Given the description of an element on the screen output the (x, y) to click on. 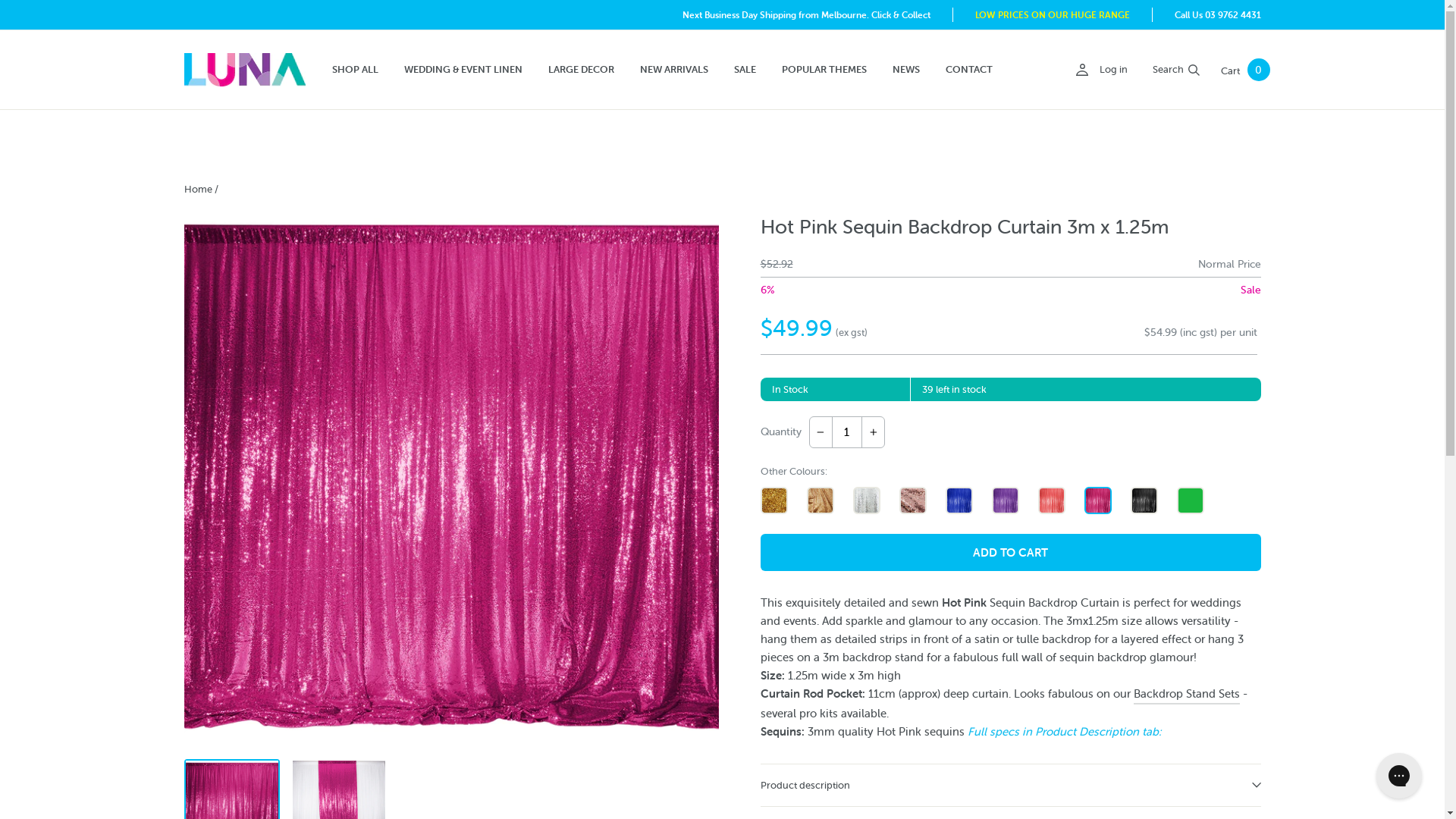
Product description Element type: text (1009, 784)
LOW PRICES ON OUR HUGE RANGE Element type: text (1052, 14)
Sequin Hot Pink Element type: text (1097, 500)
Gorgias live chat messenger Element type: hover (1398, 775)
LARGE DECOR Element type: text (580, 69)
Green Element type: text (1190, 500)
Sequin Royal Blue Element type: text (958, 500)
POPULAR THEMES Element type: text (824, 69)
Cart 0 Element type: text (1245, 69)
Call Us 03 9762 4431 Element type: text (1216, 14)
Sequin Antique Gold Element type: text (820, 500)
Sequin Champagne Gold Element type: text (773, 500)
SALE Element type: text (743, 69)
Sequin Black Element type: text (1143, 500)
CONTACT Element type: text (969, 69)
Next Business Day Shipping from Melbourne. Click & Collect Element type: text (806, 14)
Backdrop Stand Sets Element type: text (1185, 694)
Sequin Rose Gold Element type: text (912, 500)
+ Element type: text (872, 432)
Skip to content Element type: text (0, 0)
Sequin Purple Element type: text (1005, 500)
Home Element type: text (197, 188)
NEWS Element type: text (906, 69)
NEW ARRIVALS Element type: text (672, 69)
Log in
Log in Element type: text (1099, 69)
Search
SEARCH Element type: text (1176, 69)
ADD TO CART Element type: text (1009, 552)
Sequin Silver Element type: text (865, 500)
WEDDING & EVENT LINEN Element type: text (462, 69)
Sequin Red Element type: text (1050, 500)
SHOP ALL Element type: text (354, 69)
